Given the description of an element on the screen output the (x, y) to click on. 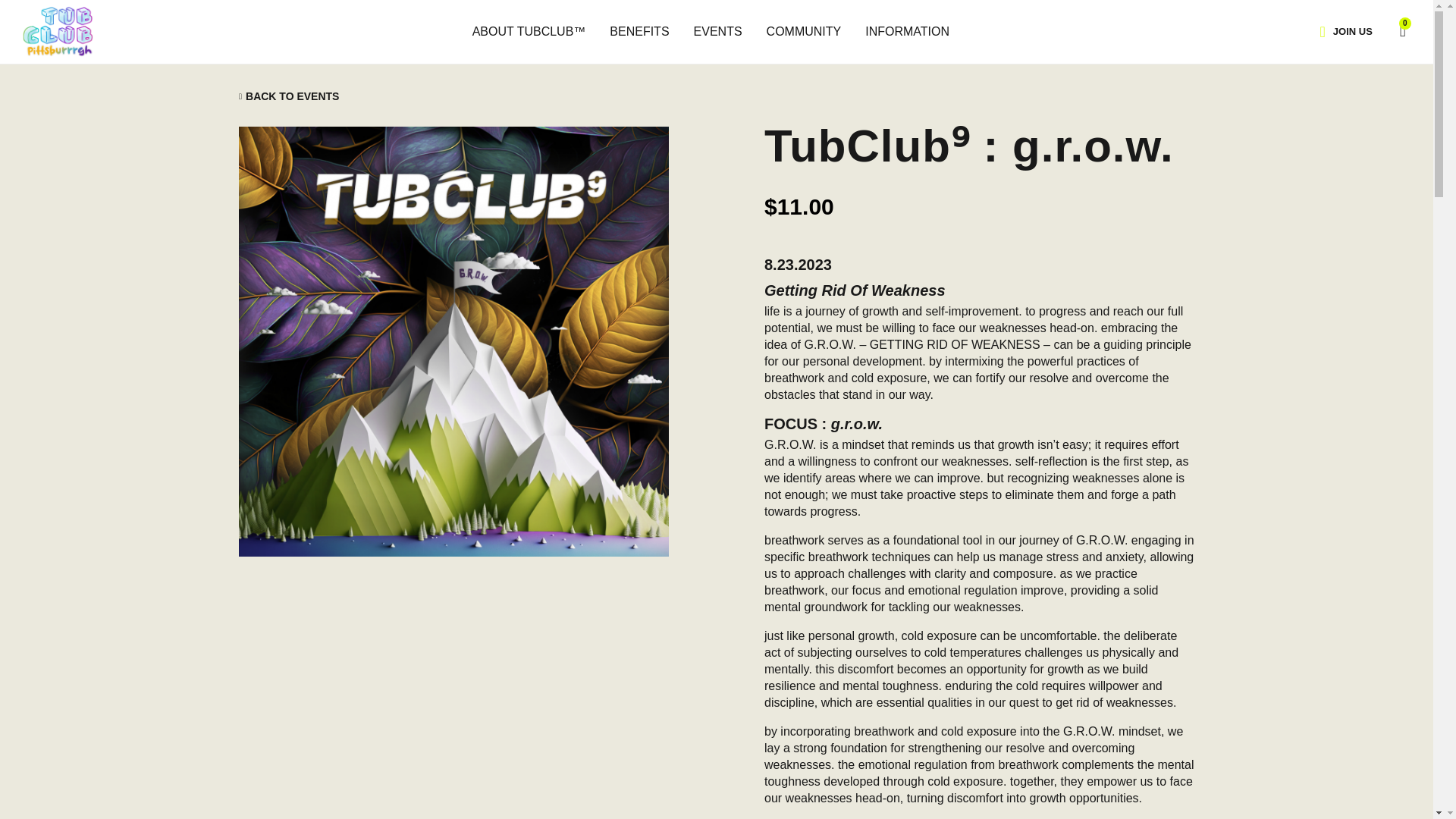
0 (1396, 30)
JOIN US (1352, 31)
